Given the description of an element on the screen output the (x, y) to click on. 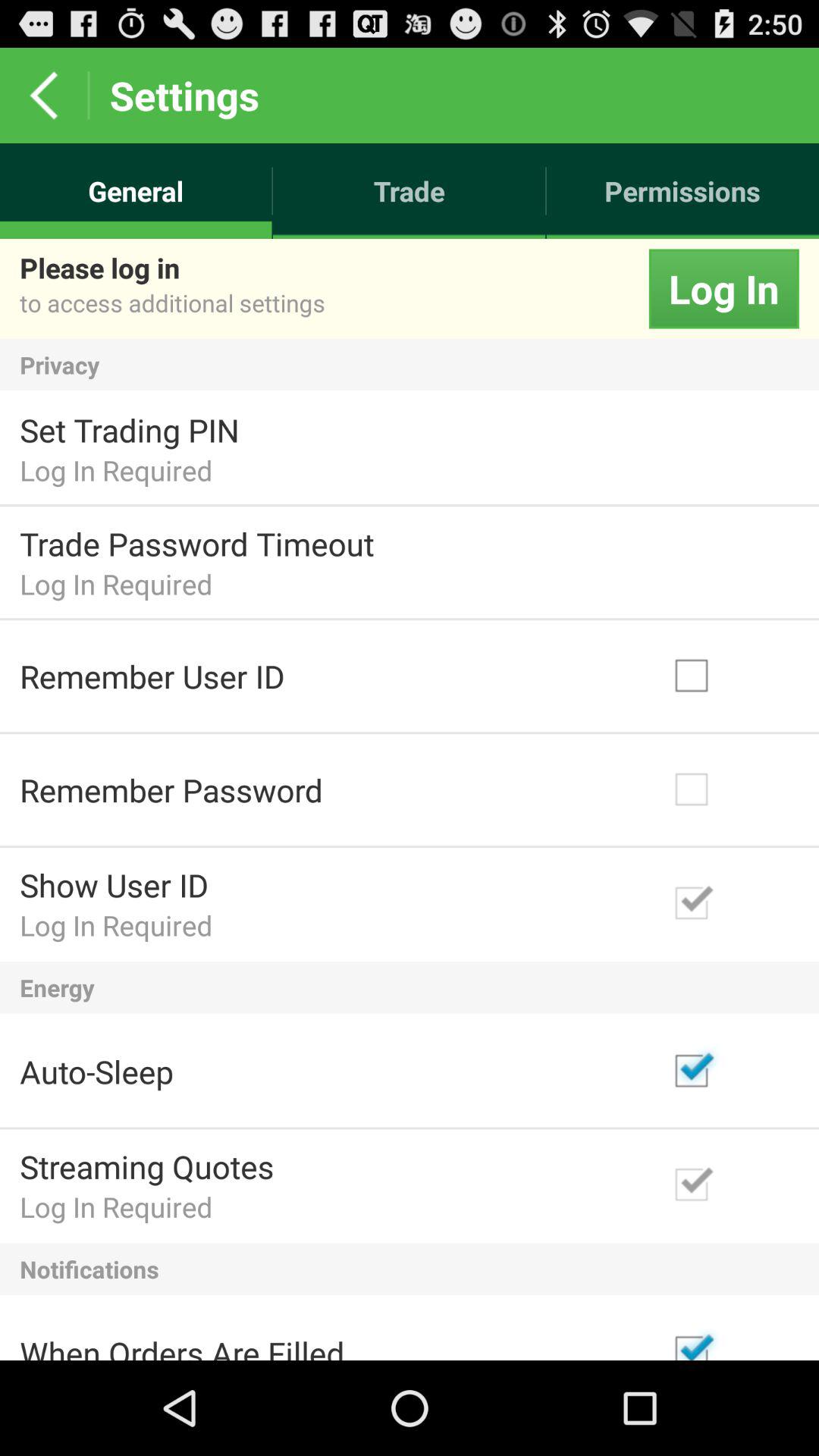
turn off when orders are (181, 1345)
